Given the description of an element on the screen output the (x, y) to click on. 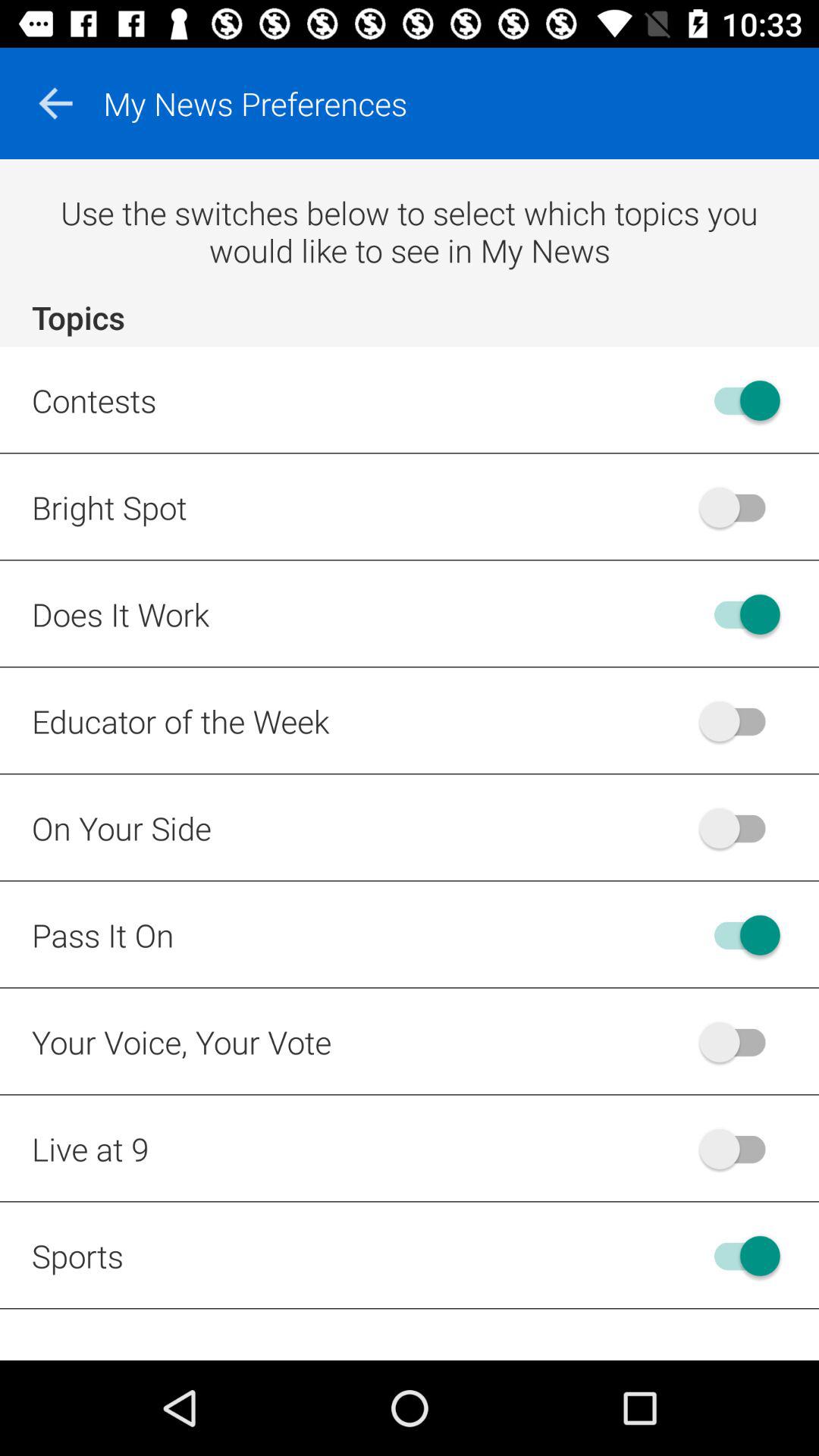
toggle educator of the week (739, 720)
